Given the description of an element on the screen output the (x, y) to click on. 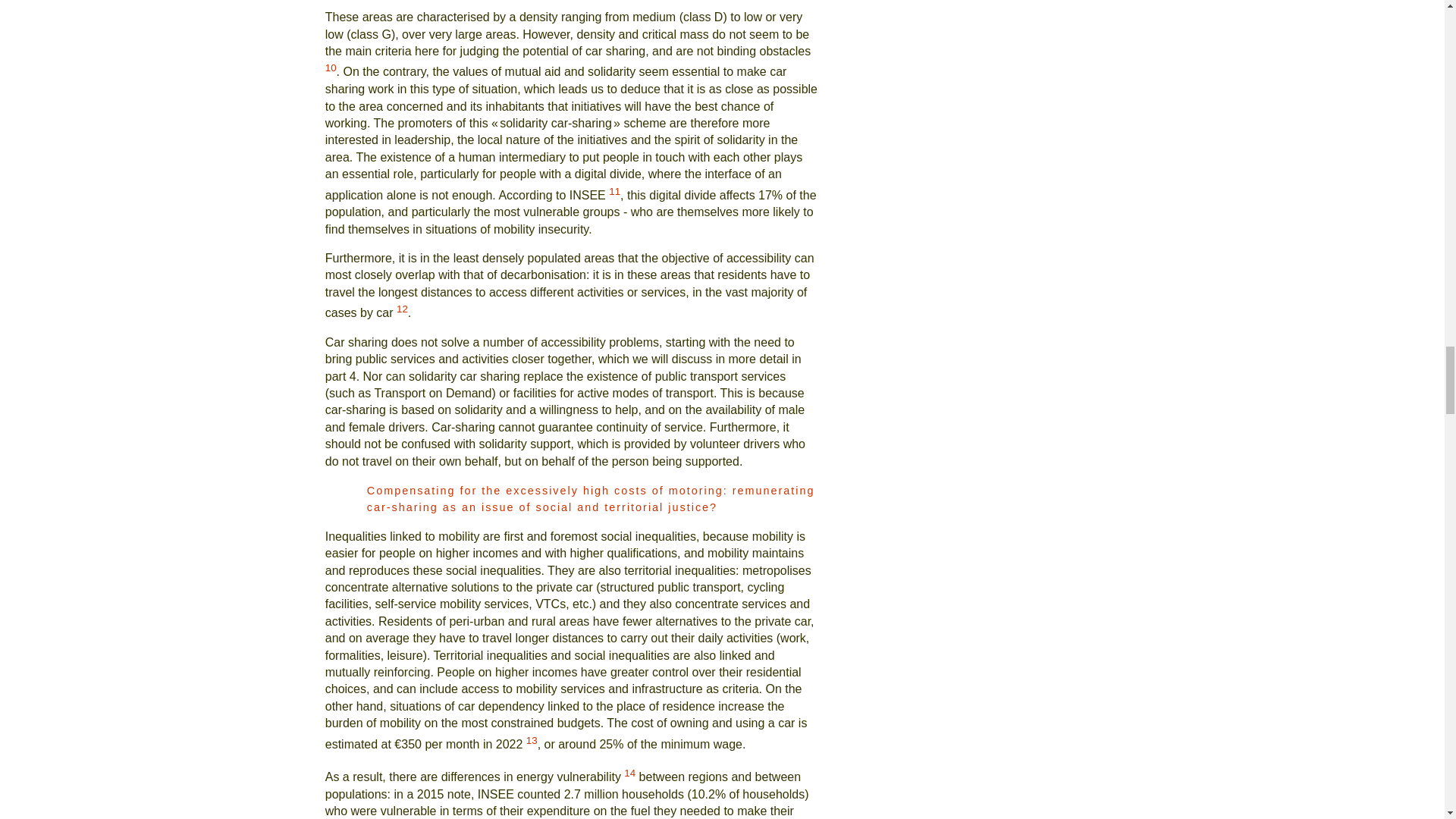
14 (629, 772)
10 (330, 67)
13 (531, 740)
11 (614, 191)
12 (401, 308)
